Given the description of an element on the screen output the (x, y) to click on. 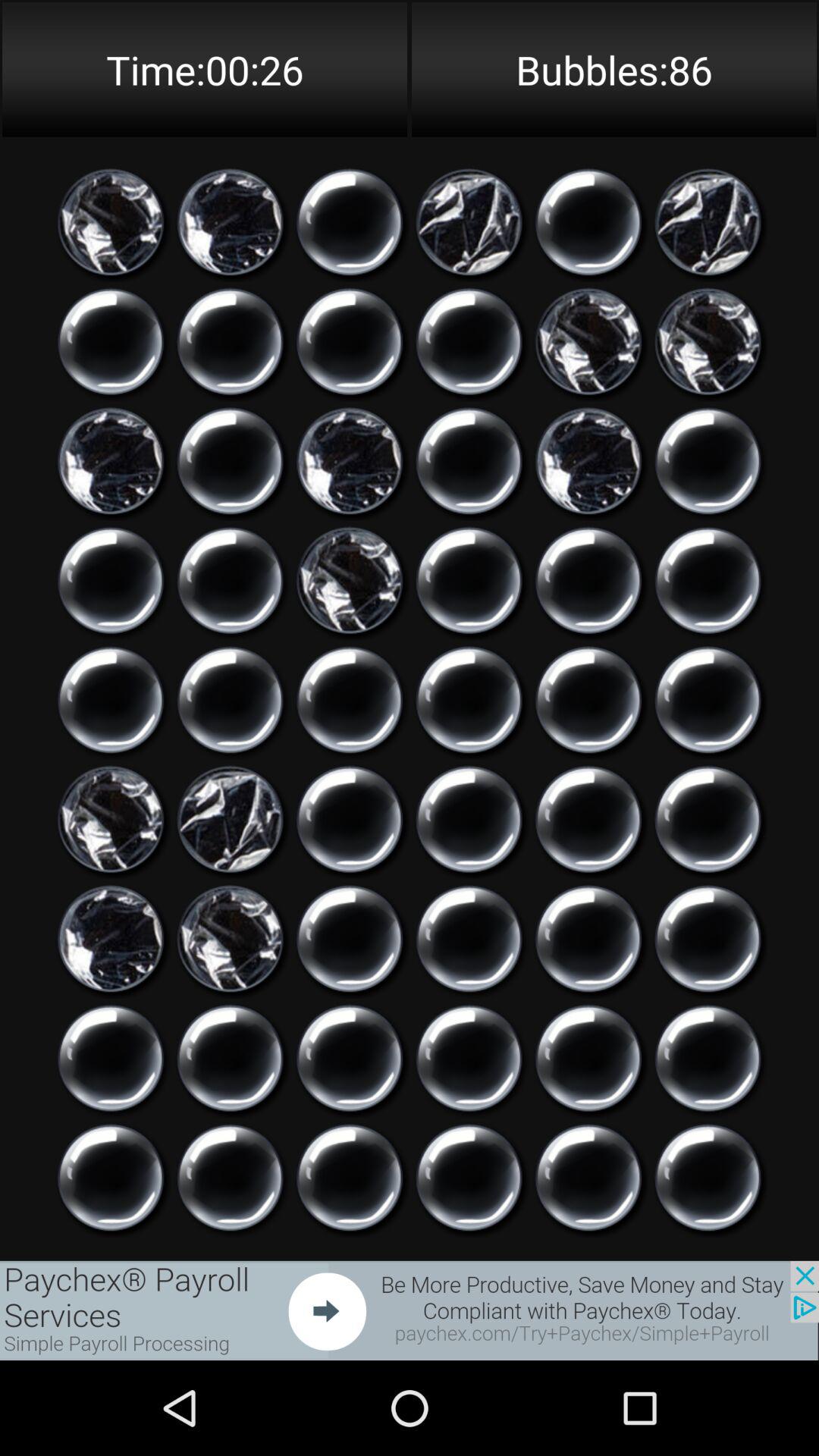
add something (468, 580)
